Given the description of an element on the screen output the (x, y) to click on. 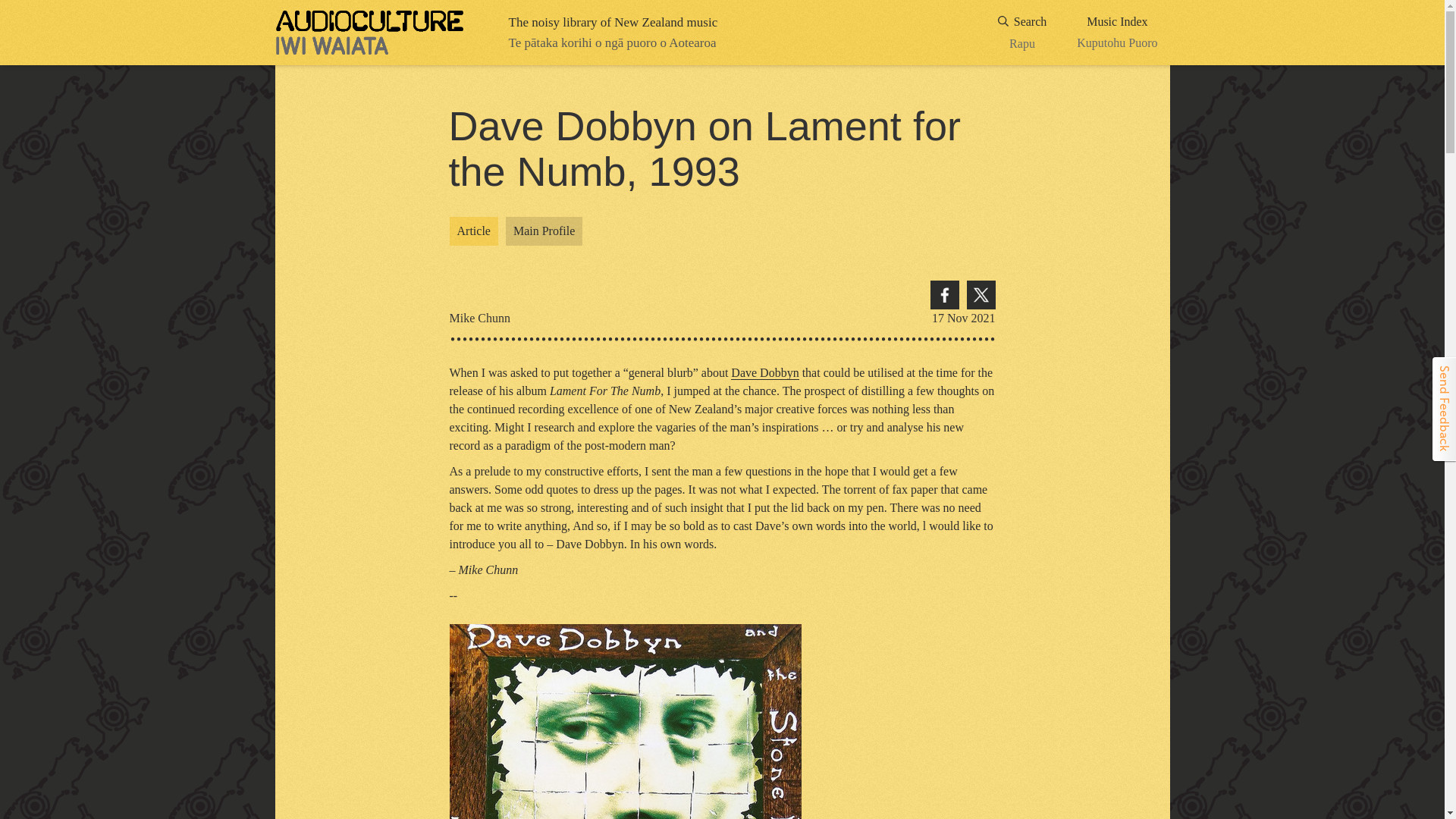
Article (472, 231)
Dave Dobbyn (763, 373)
Main Profile (1022, 32)
Twitter (1117, 32)
Dave Dobbyn (543, 231)
Facebook (980, 294)
AudioCulture (763, 373)
